Given the description of an element on the screen output the (x, y) to click on. 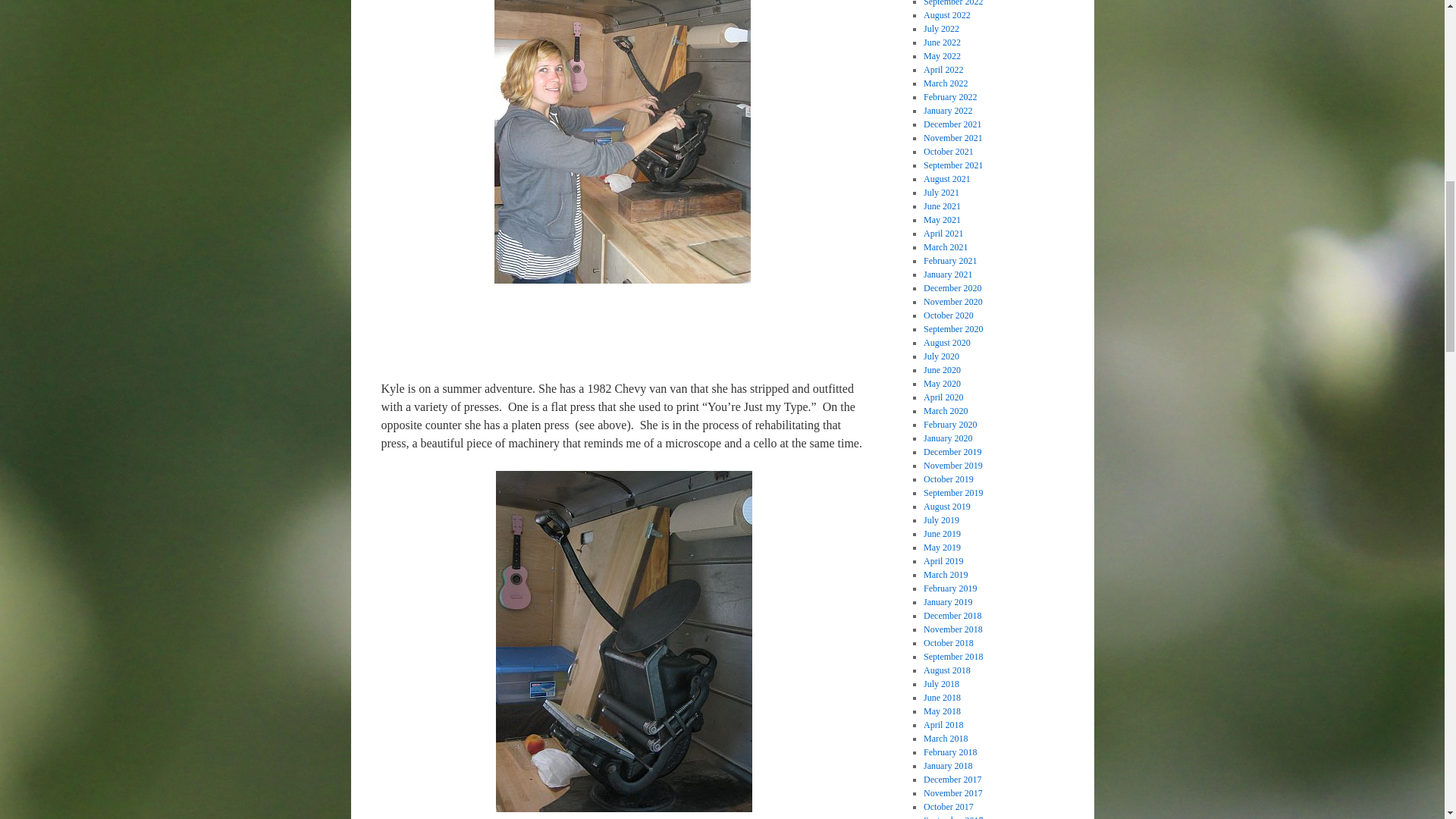
kyle with platen I (623, 141)
August 2022 (947, 14)
platen press with peach (624, 641)
July 2022 (941, 28)
September 2022 (952, 3)
